Given the description of an element on the screen output the (x, y) to click on. 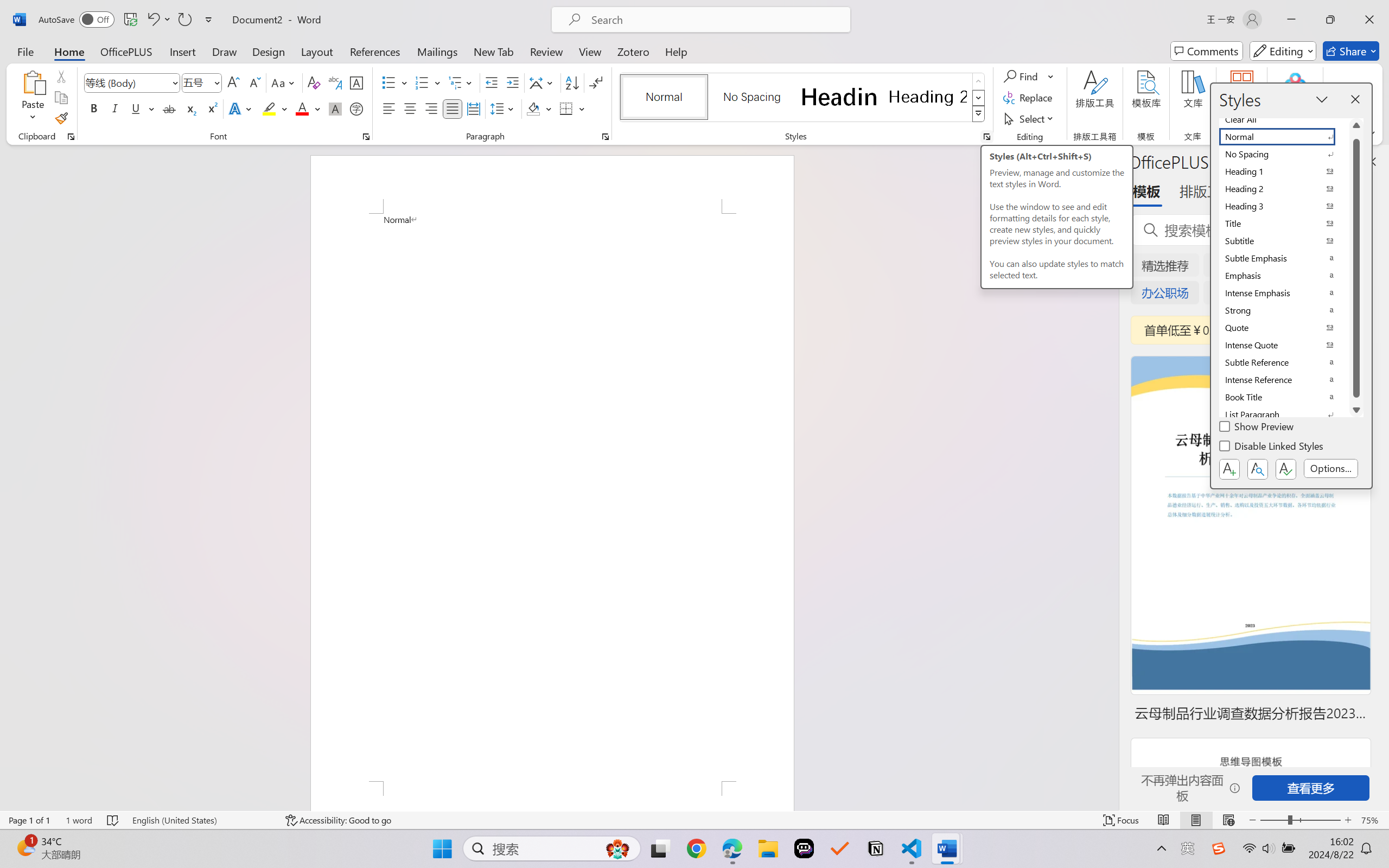
Font... (365, 136)
Accessibility Checker Accessibility: Good to go (338, 819)
Find (1029, 75)
Clear Formatting (313, 82)
Bold (94, 108)
Task Pane Options (1338, 161)
View (589, 51)
Underline (135, 108)
More Options (1051, 75)
Grow Font (233, 82)
Emphasis (1283, 275)
Read Mode (1163, 819)
